Given the description of an element on the screen output the (x, y) to click on. 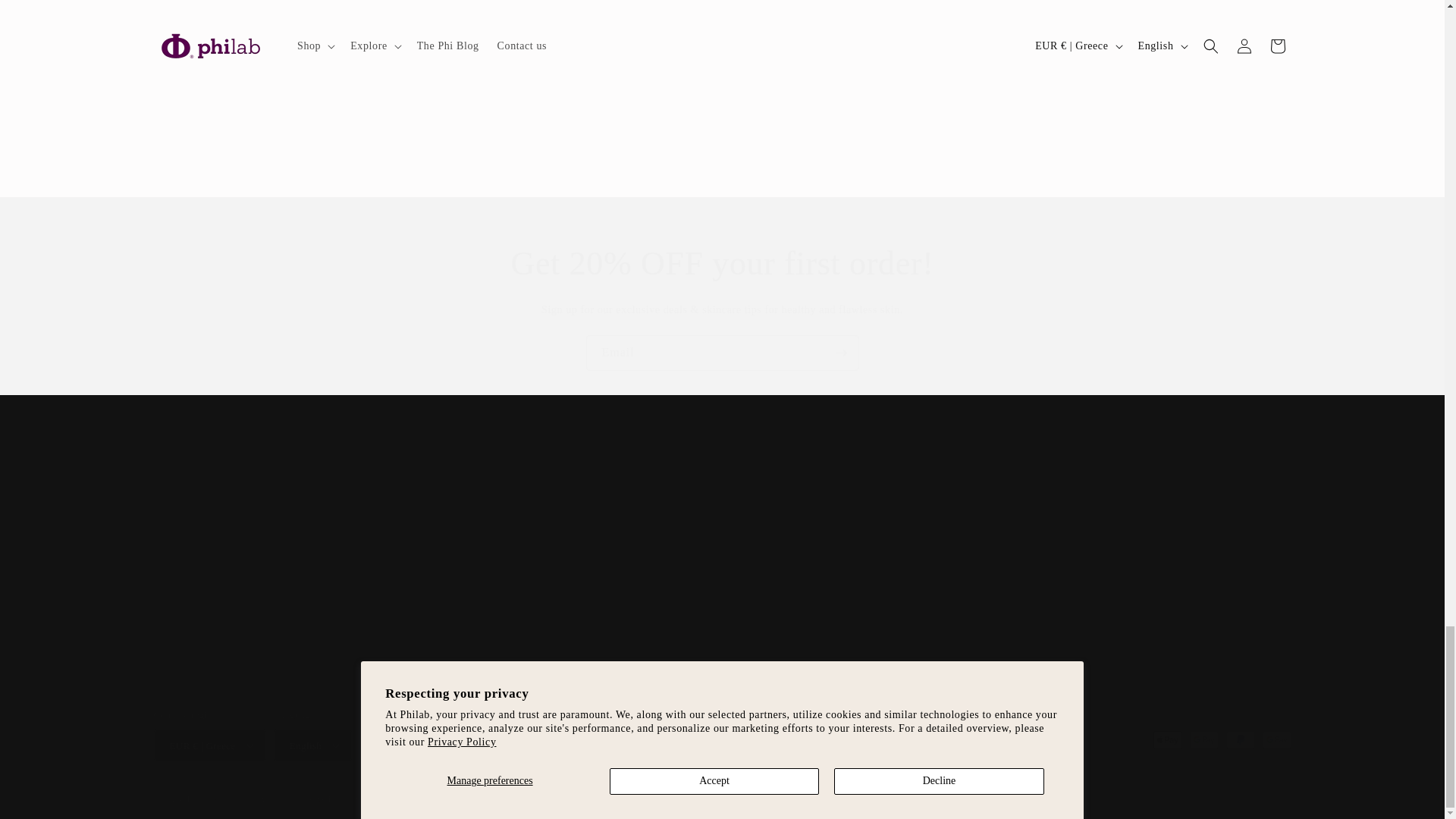
Email (722, 352)
